Given the description of an element on the screen output the (x, y) to click on. 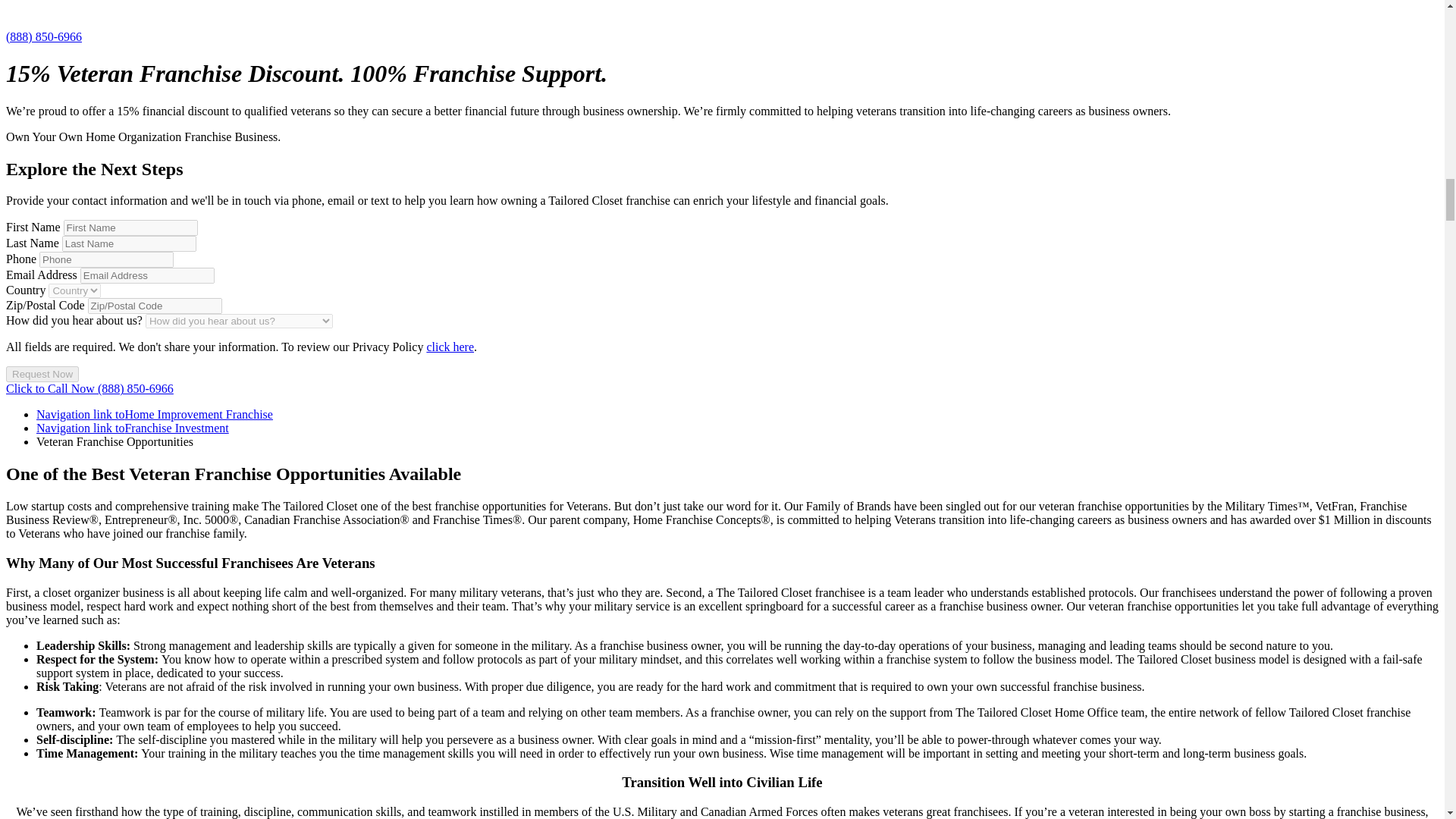
Request Now (41, 374)
Navigation link toFranchise Investment (132, 427)
Navigation link toHome Improvement Franchise (154, 413)
Request Now (41, 374)
Click here (450, 346)
click here (450, 346)
